Given the description of an element on the screen output the (x, y) to click on. 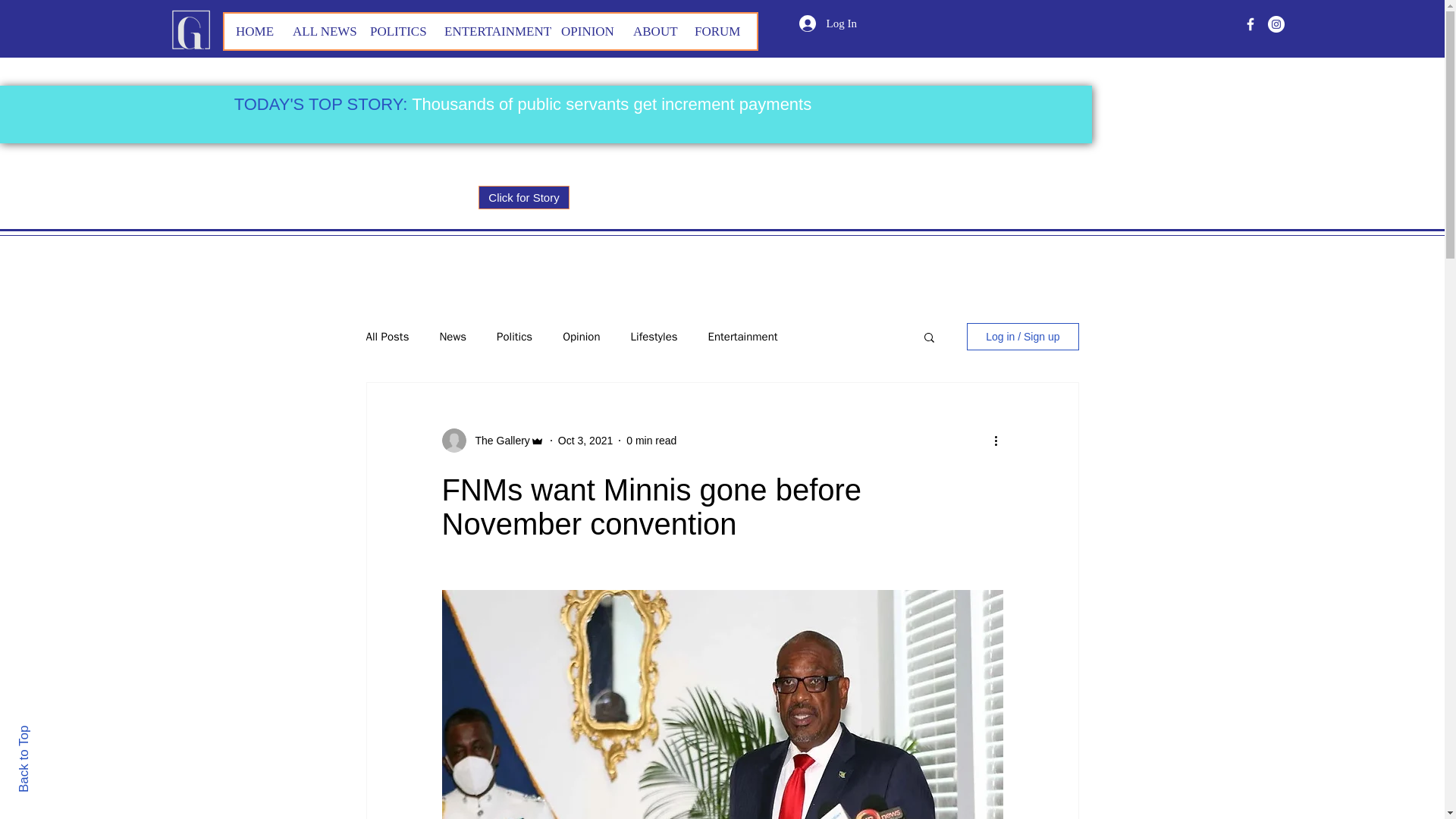
Opinion (580, 336)
ABOUT (651, 31)
Politics (514, 336)
ALL NEWS (319, 31)
ENTERTAINMENT (490, 31)
POLITICS (395, 31)
HOME (252, 31)
News (452, 336)
Entertainment (742, 336)
Log In (828, 23)
